Given the description of an element on the screen output the (x, y) to click on. 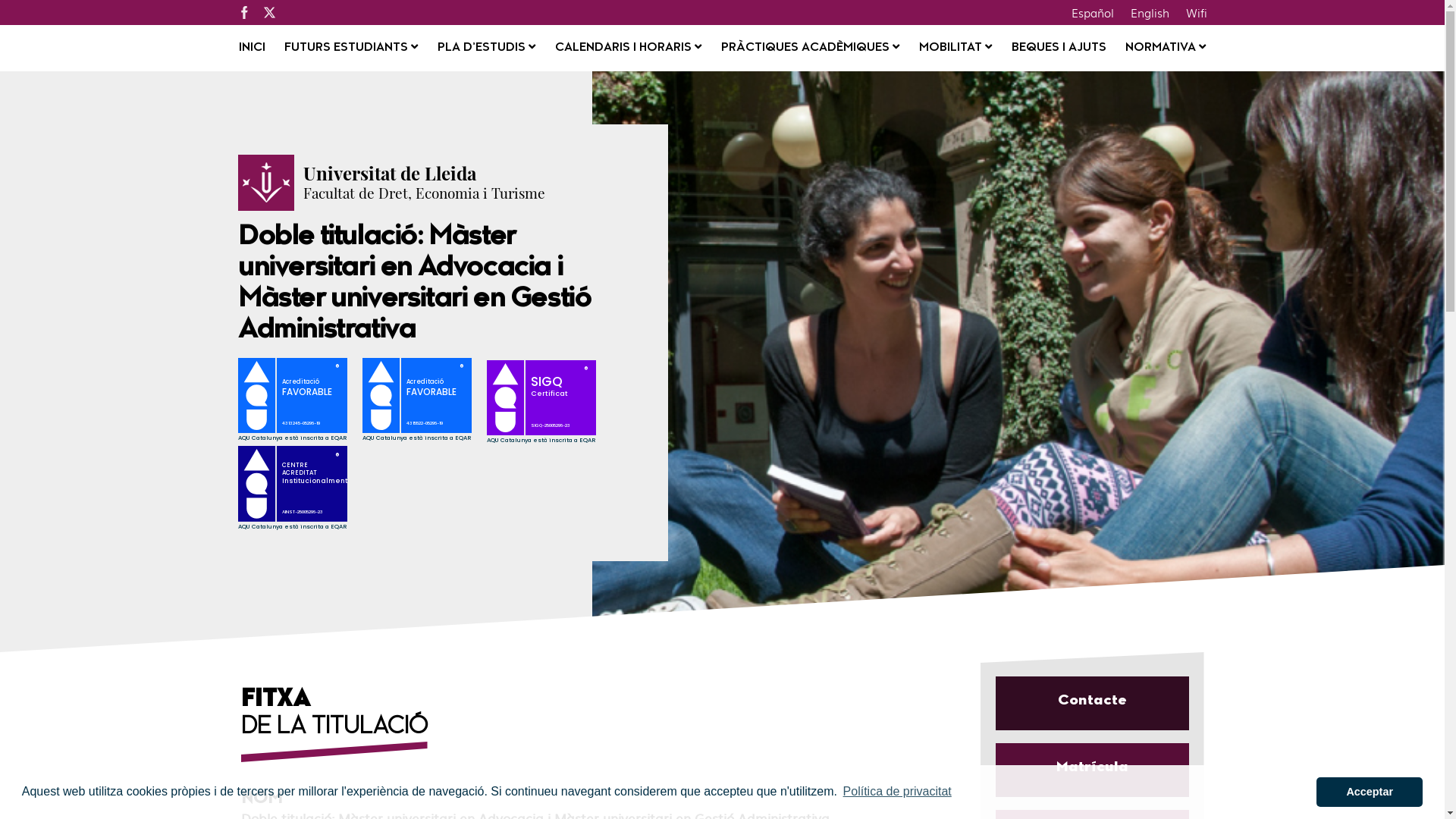
Wifi Element type: text (1195, 12)
BEQUES I AJUTS Element type: text (1058, 48)
Acceptar Element type: text (1369, 791)
SegellAcreditacioAQU_MGAdministrativa_ca Element type: hover (424, 401)
English Element type: text (1149, 12)
CALENDARIS I HORARIS Element type: text (628, 48)
Universitat de Lleida
Facultat de Dret, Economia i Turisme Element type: text (424, 182)
FUTURS ESTUDIANTS Element type: text (350, 48)
SegellAcreditacioAQU_MAdvocacia_ca Element type: hover (300, 401)
NORMATIVA Element type: text (1165, 48)
INICI Element type: text (251, 48)
MOBILITAT Element type: text (955, 48)
